Given the description of an element on the screen output the (x, y) to click on. 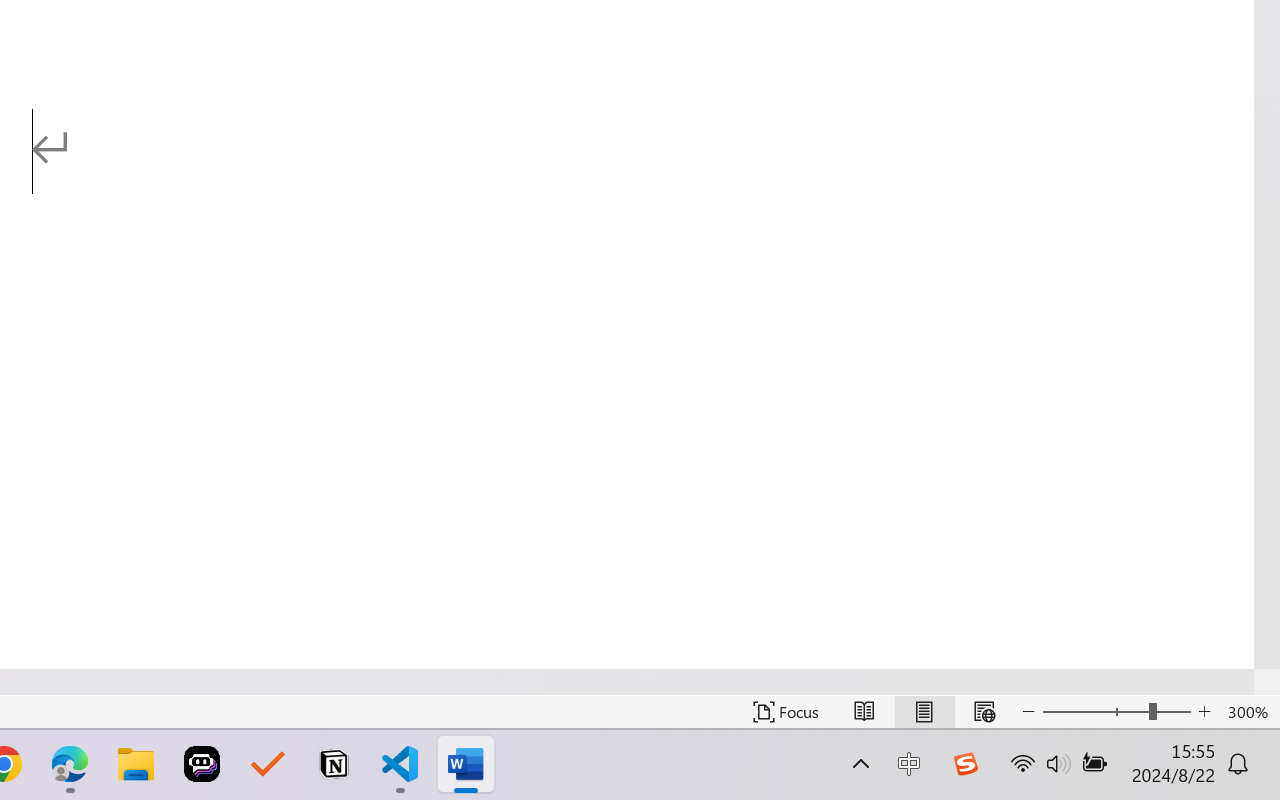
Zoom (1116, 712)
Read Mode (864, 712)
Print Layout (924, 712)
Zoom In (1204, 712)
Zoom Out (1095, 712)
Class: Image (965, 764)
Web Layout (984, 712)
Focus  (786, 712)
Zoom 300% (1249, 712)
